Given the description of an element on the screen output the (x, y) to click on. 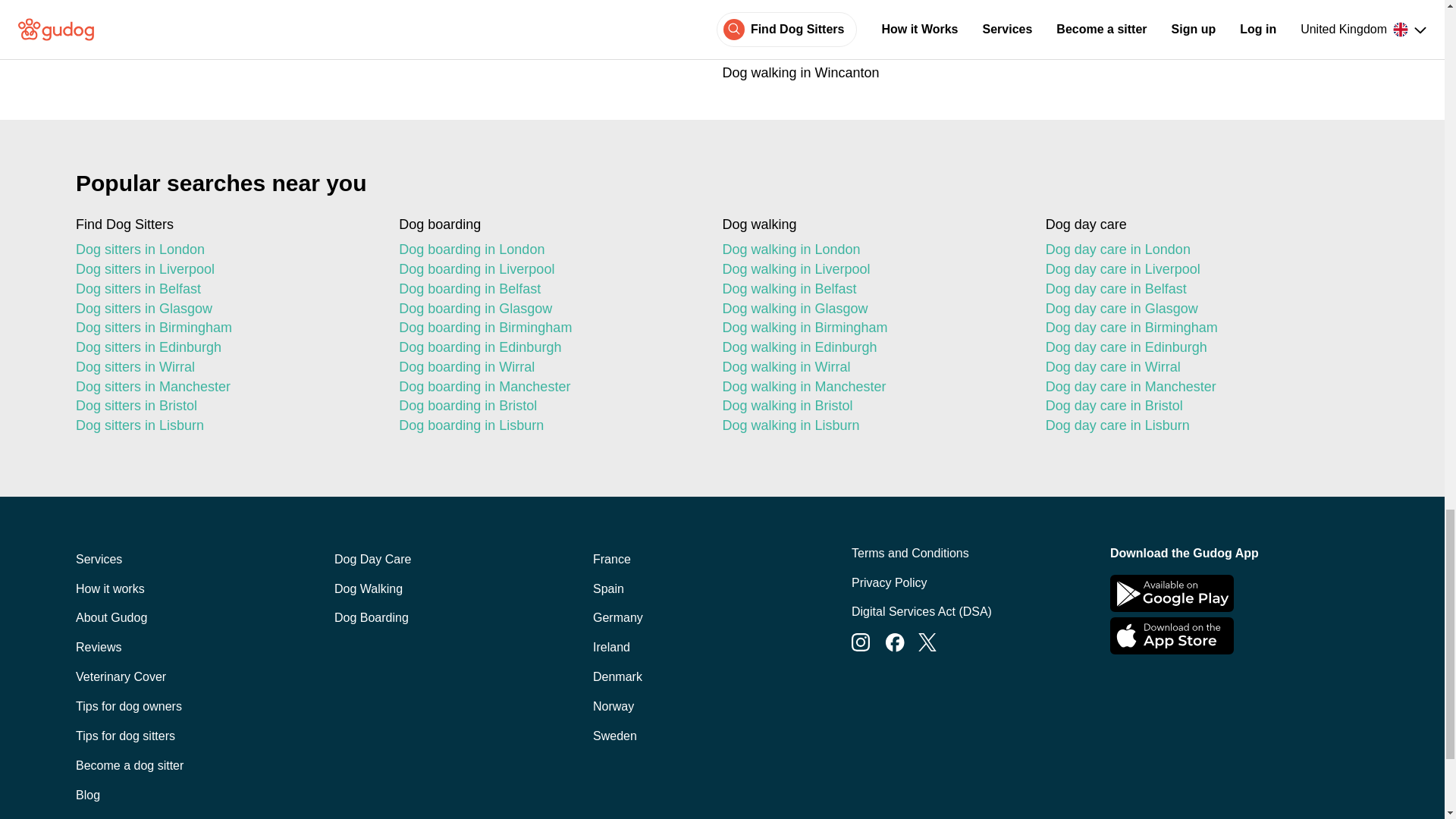
Dog walking in Wincanton (1022, 73)
Dog boarding in Edinburgh (547, 347)
Dog sitters in Lisburn (224, 425)
Dog day care in Blandford Forum (421, 40)
Dog boarding in Belfast (547, 289)
Dog sitters in Lisburn (224, 425)
Dog sitters in Birmingham (224, 328)
Dog boarding in Manchester (547, 387)
Dog boarding in Glasgow (547, 309)
Dog boarding in Edinburgh (547, 347)
Dog boarding in Birmingham (547, 328)
Dog boarding in Birmingham (547, 328)
Dog boarding in London (547, 250)
Dog sitters in Manchester (224, 387)
Dog sitters in Belfast (224, 289)
